Given the description of an element on the screen output the (x, y) to click on. 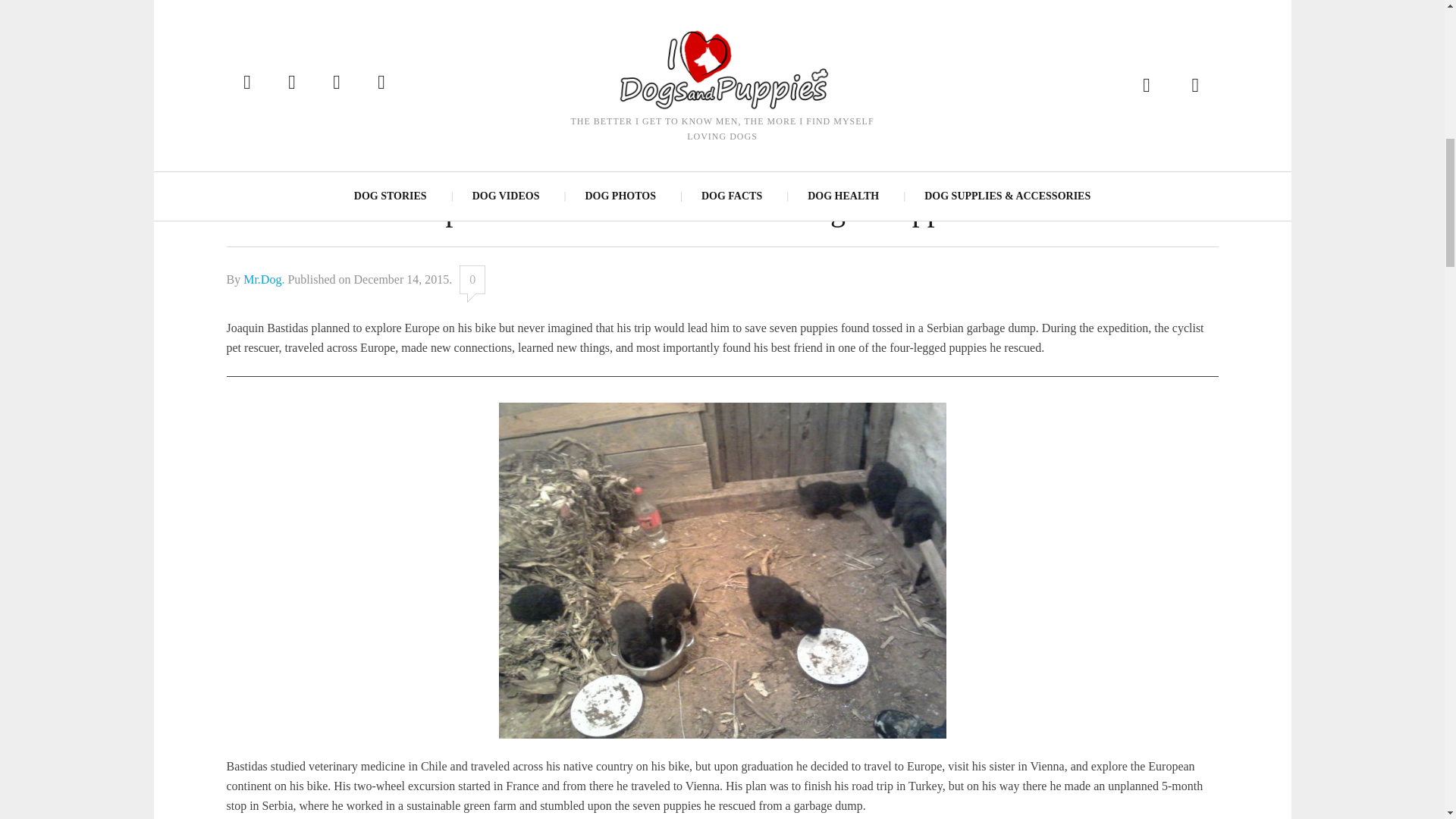
0 (472, 279)
Posts by Mr.Dog (262, 278)
Mr.Dog (262, 278)
